Given the description of an element on the screen output the (x, y) to click on. 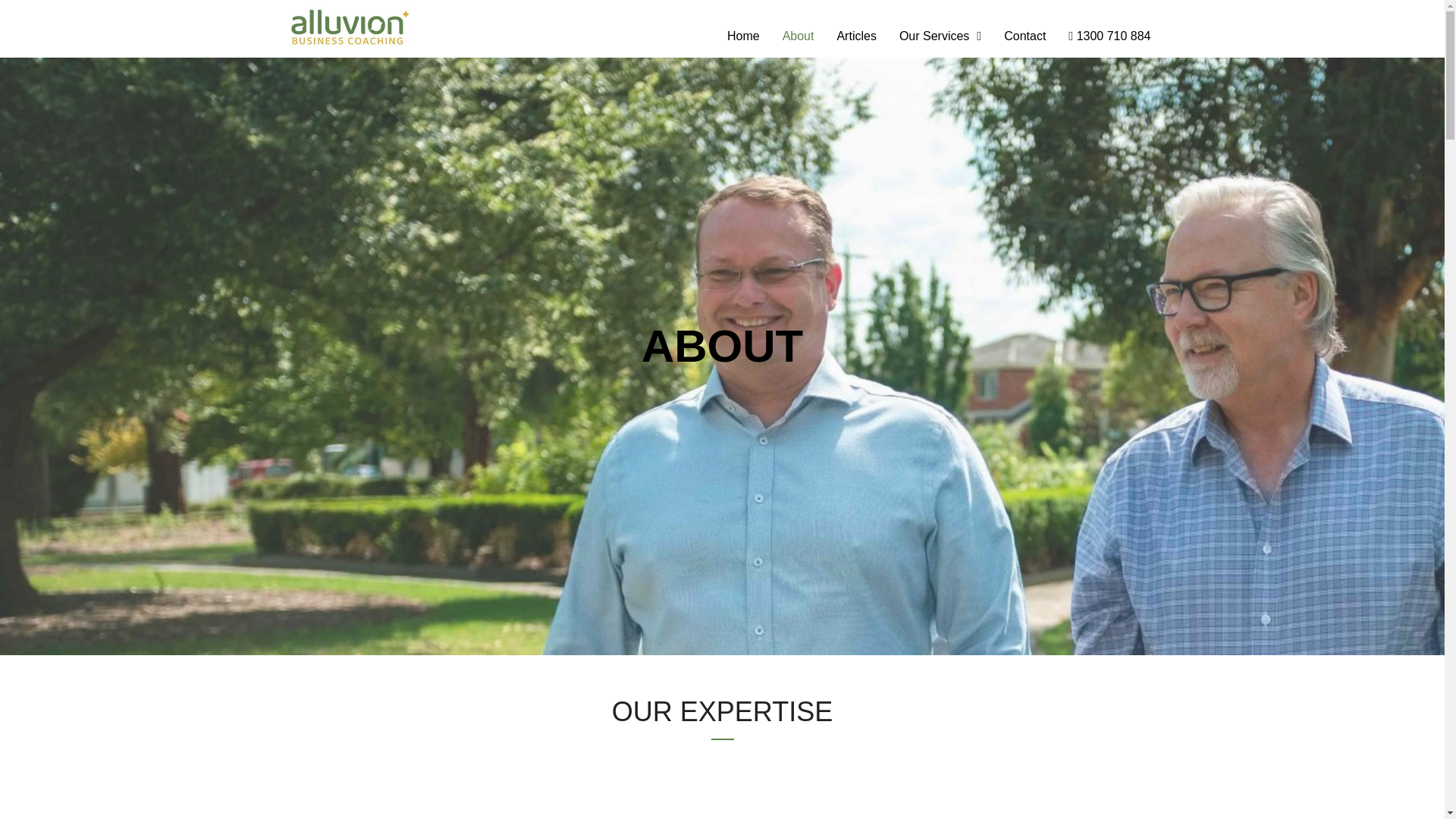
Contact (1023, 35)
Articles (855, 35)
1300 710 884 (1109, 35)
Home (743, 35)
About (798, 35)
Our Services (939, 35)
Alluvion Business Coaching Logo 01 (348, 27)
